Given the description of an element on the screen output the (x, y) to click on. 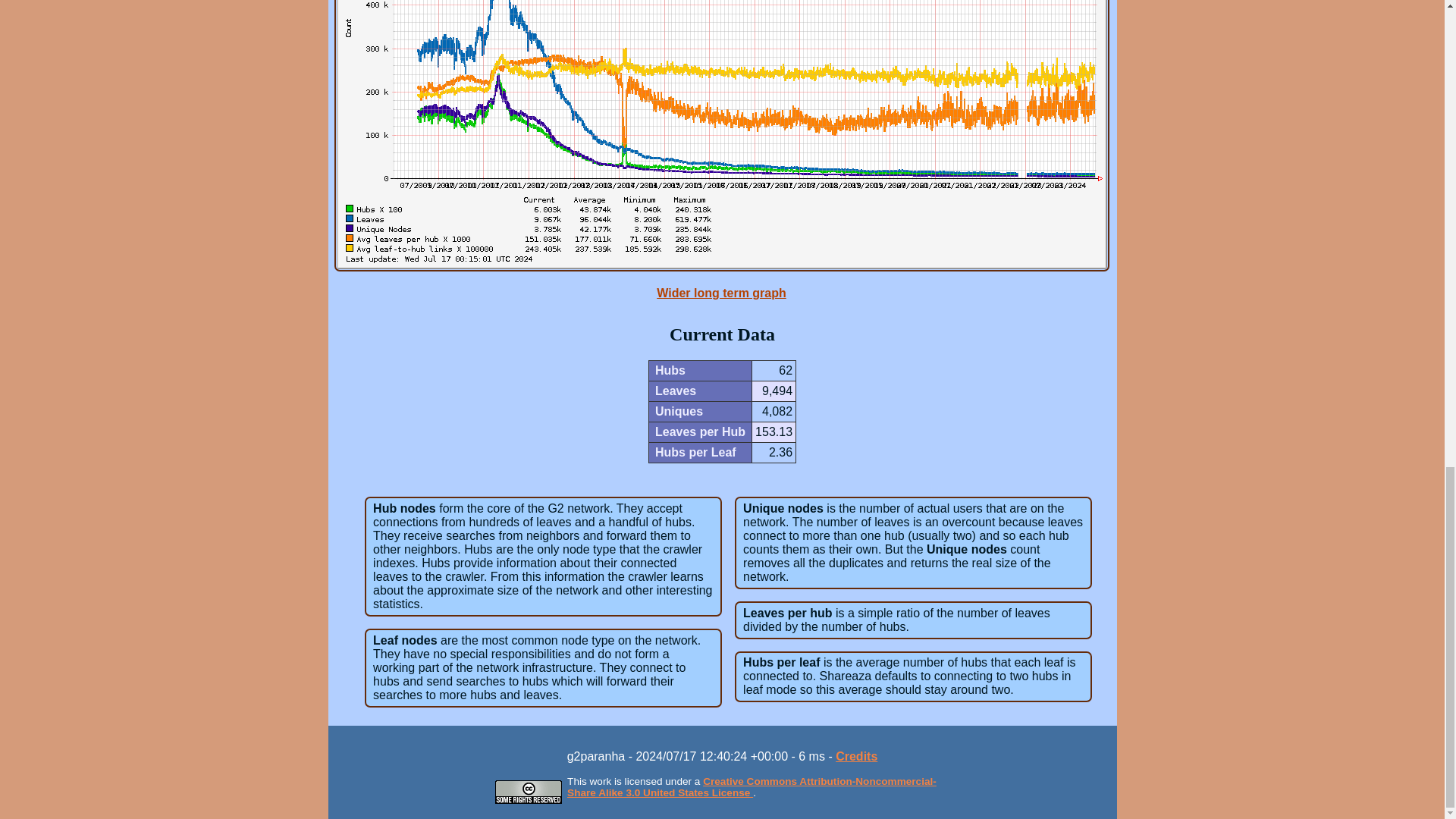
Credits (856, 756)
Wider long term graph (721, 292)
